Given the description of an element on the screen output the (x, y) to click on. 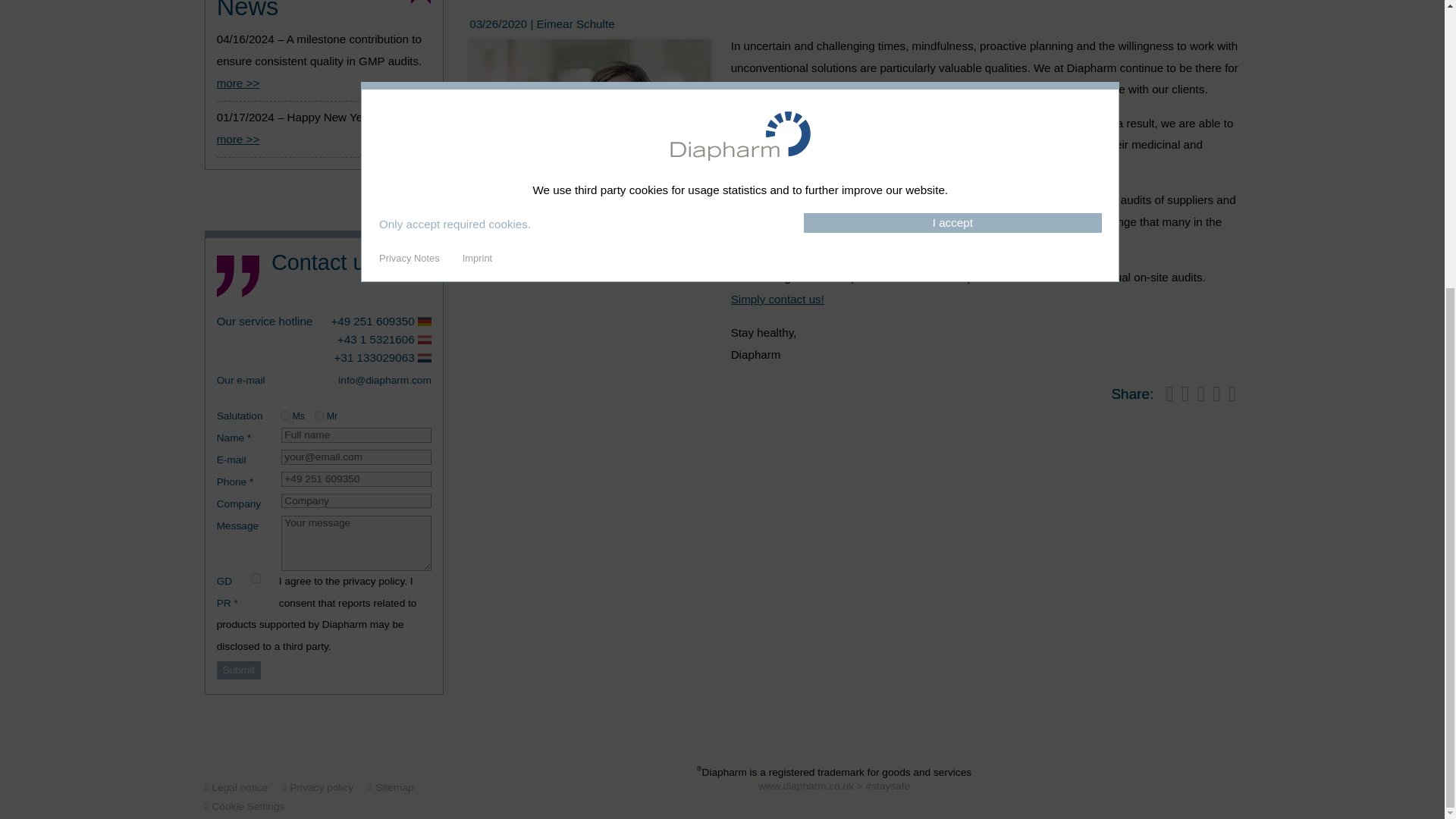
Privacy policy (325, 787)
Eimear Schulte (588, 119)
1 (255, 578)
Frau (285, 415)
Sitemap (398, 787)
Legal notice (243, 787)
Herr (319, 415)
